Given the description of an element on the screen output the (x, y) to click on. 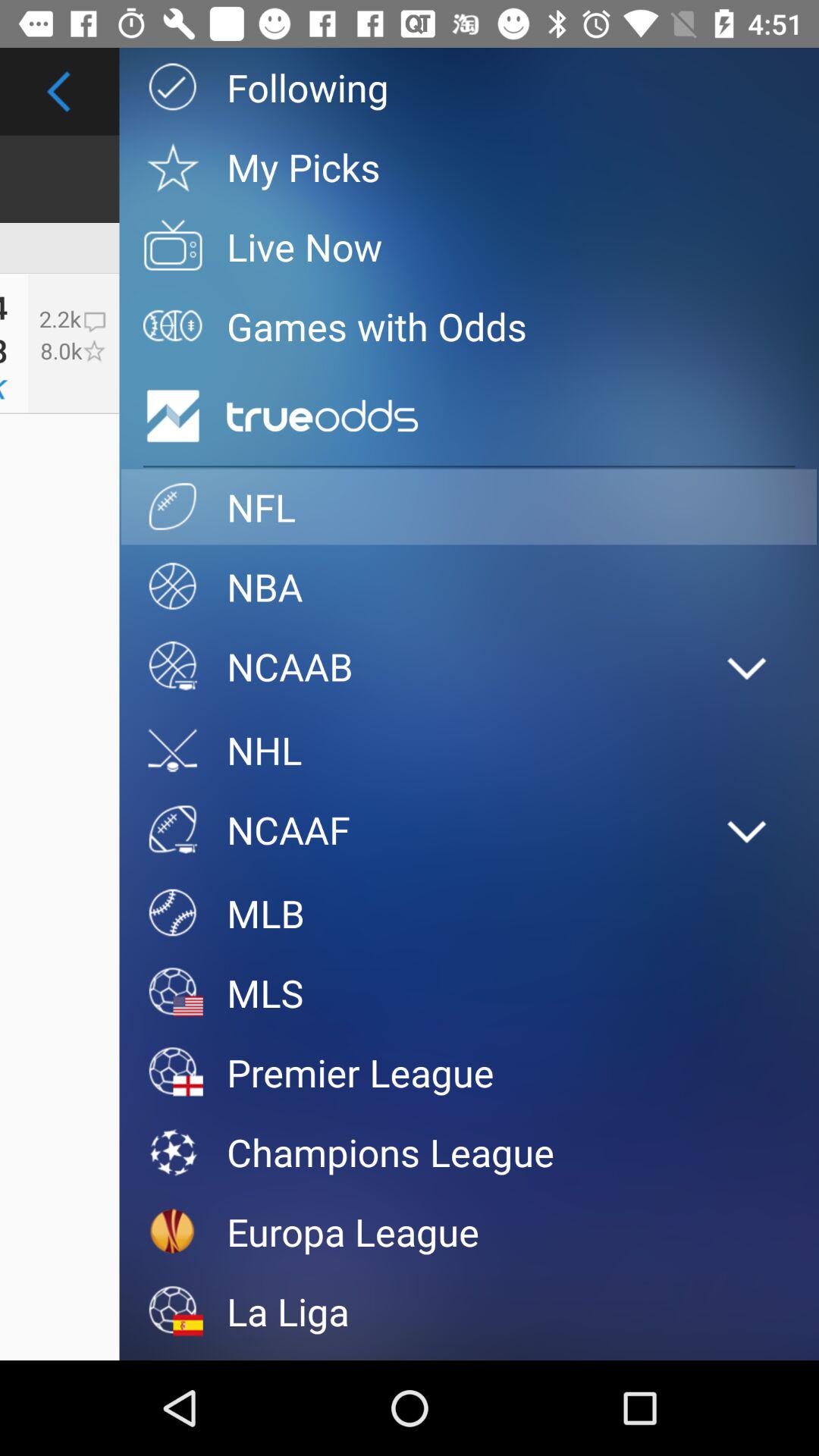
turn on the mlb item (469, 913)
